Given the description of an element on the screen output the (x, y) to click on. 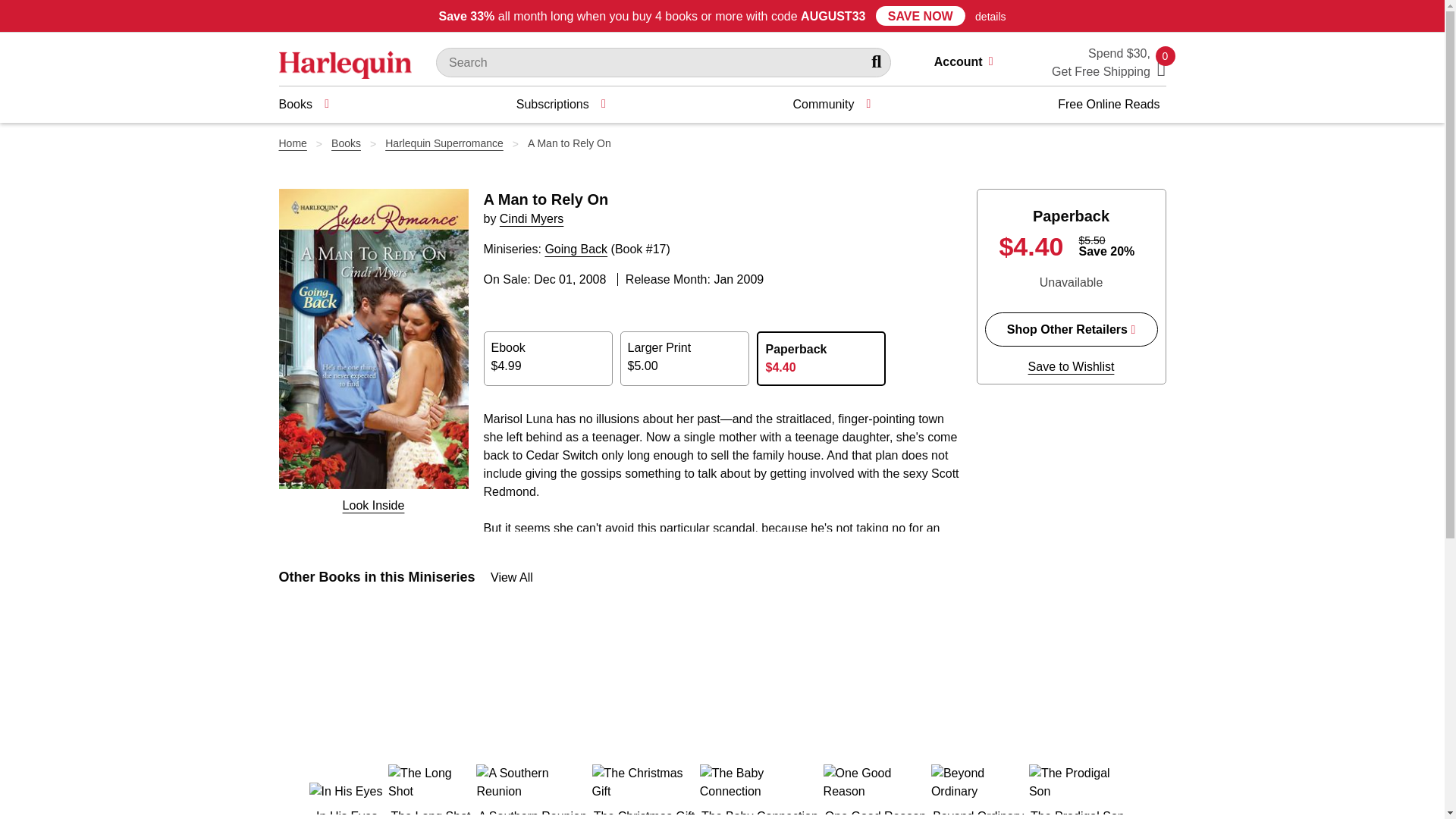
SAVE NOW (920, 15)
details (990, 16)
Harlequin home (345, 63)
Search for other content by Cindi Myers (531, 218)
Account (970, 63)
